Given the description of an element on the screen output the (x, y) to click on. 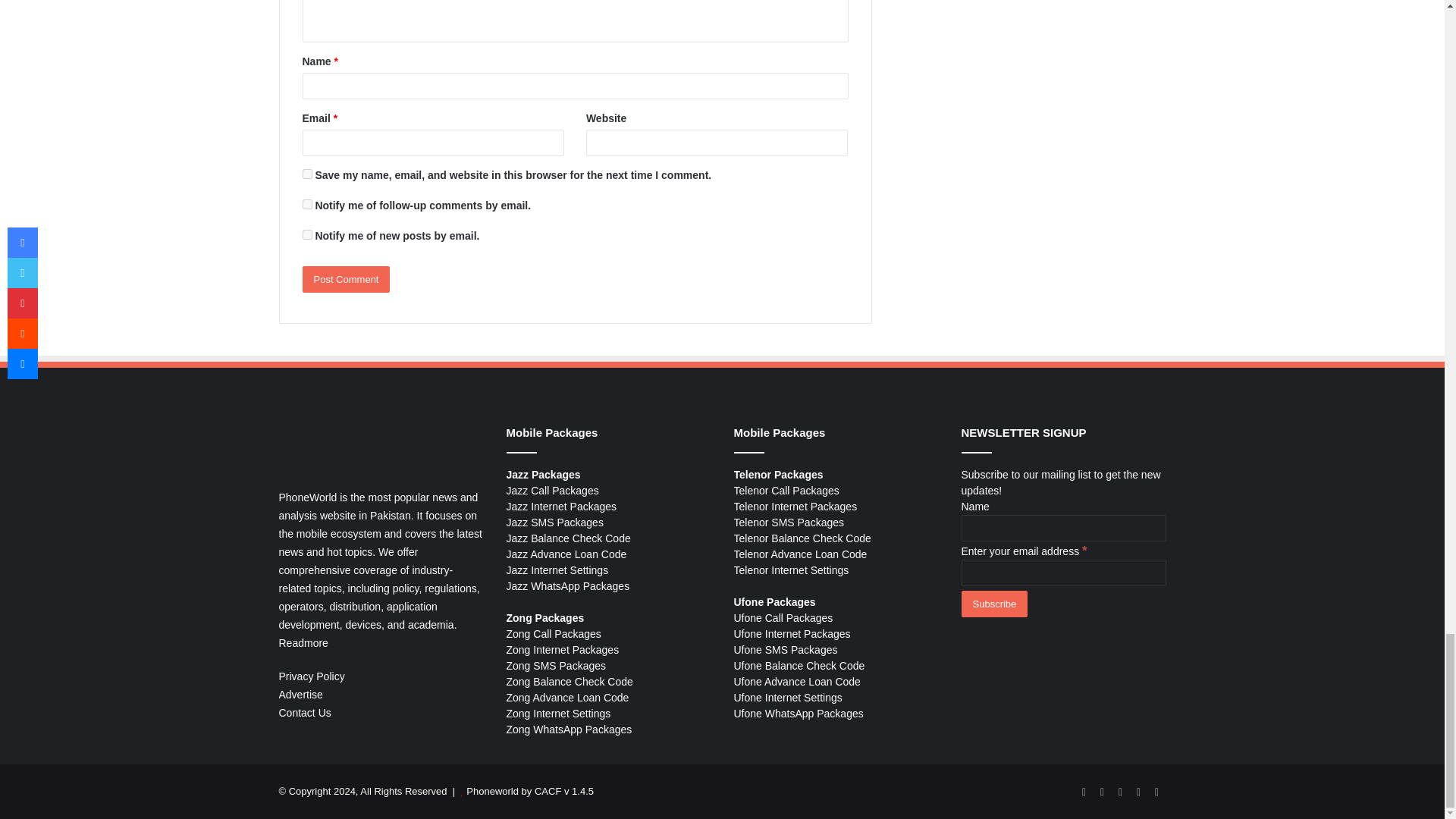
Post Comment (345, 279)
yes (306, 173)
Subscribe (993, 603)
subscribe (306, 234)
subscribe (306, 204)
